Given the description of an element on the screen output the (x, y) to click on. 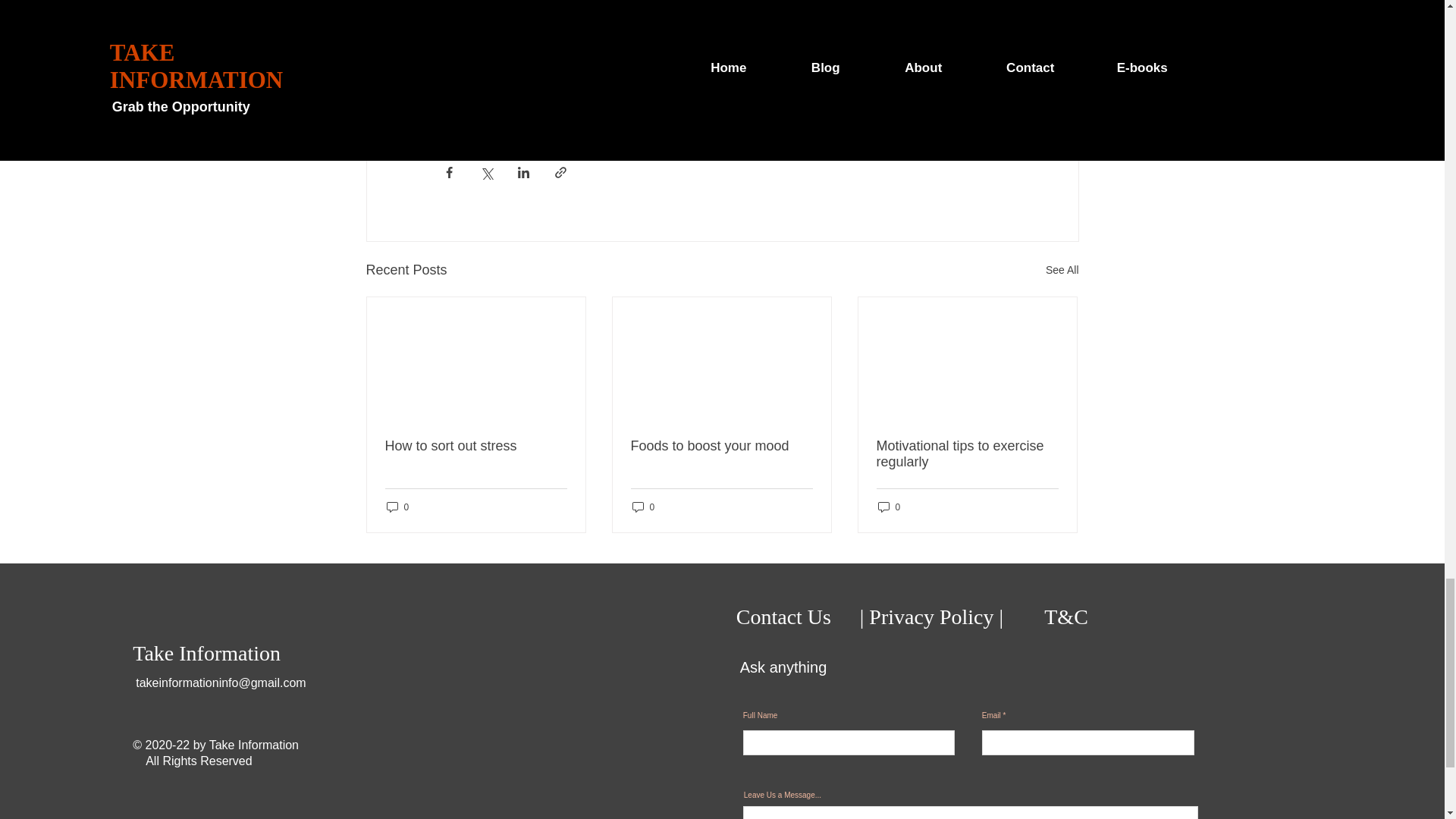
0 (643, 506)
Motivational tips to exercise regularly (967, 454)
0 (397, 506)
0 (889, 506)
Foods to boost your mood (721, 446)
How to sort out stress (476, 446)
See All (1061, 270)
